Given the description of an element on the screen output the (x, y) to click on. 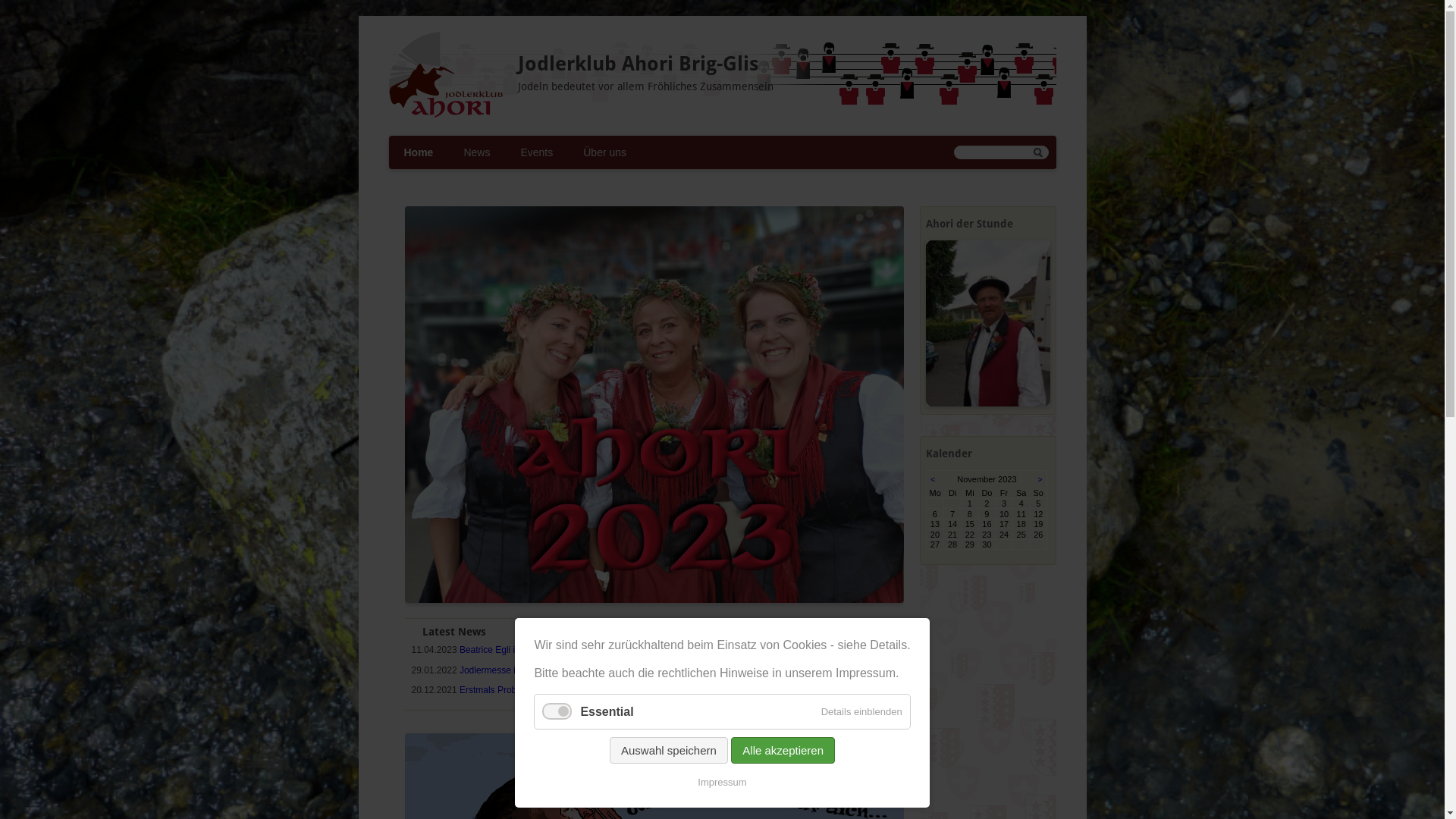
DV EJV in Brig Element type: text (762, 705)
Erstmals Probe mit Maske Element type: text (512, 689)
Events Element type: text (536, 152)
Auswahl speichern Element type: text (668, 750)
Walliser Jodlertreffen Element type: text (774, 685)
Suchen Element type: hover (1037, 152)
> Element type: text (1039, 478)
Details einblenden Element type: text (861, 711)
News Element type: text (476, 152)
Alle akzeptieren Element type: text (782, 750)
Westschweizer Jodlerfest Raron Element type: text (784, 657)
< Element type: text (932, 478)
Impressum Element type: text (721, 781)
Jodlermesse im Glis Element type: text (500, 670)
